Given the description of an element on the screen output the (x, y) to click on. 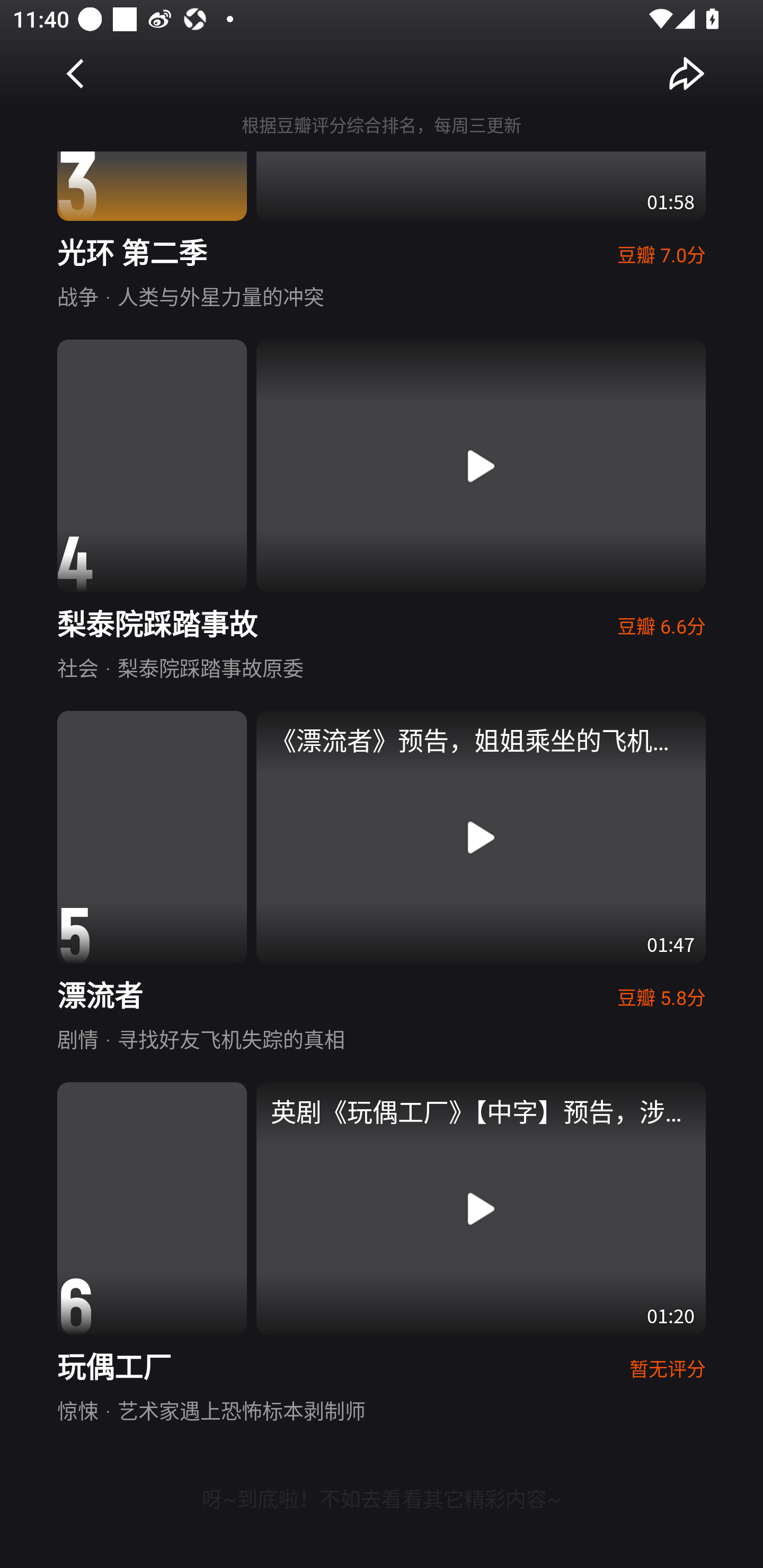
 返回 (76, 72)
 分享 (686, 72)
战争 (77, 295)
人类与外星力量的冲突 (220, 295)
社会 (77, 667)
梨泰院踩踏事故原委 (210, 667)
剧情 (77, 1037)
寻找好友飞机失踪的真相 (230, 1037)
惊悚 (77, 1409)
艺术家遇上恐怖标本剥制师 (241, 1409)
